Given the description of an element on the screen output the (x, y) to click on. 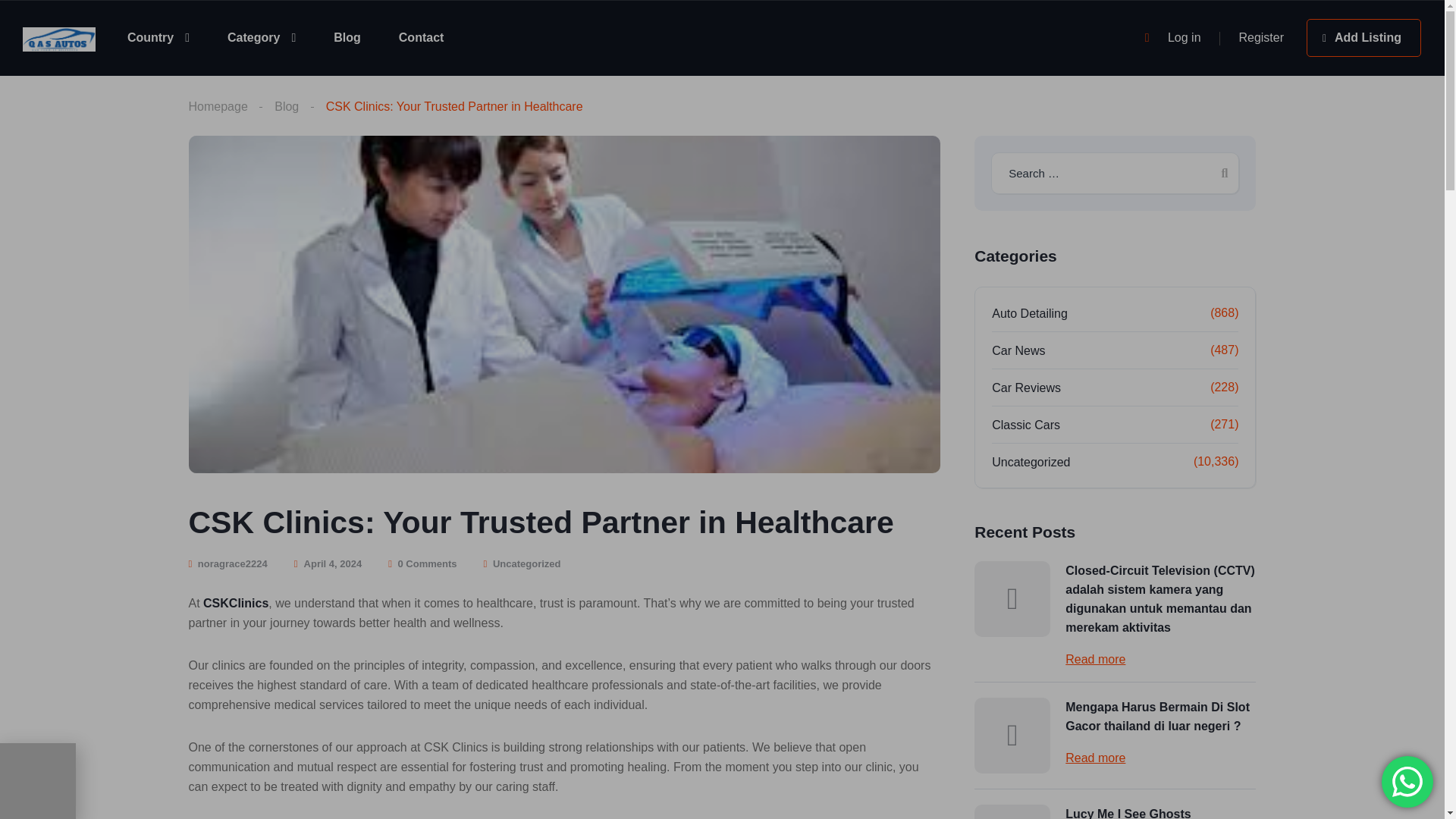
Register (1261, 37)
Blog (347, 36)
Uncategorized (526, 563)
Country (158, 36)
Contact (421, 36)
Country (158, 36)
Blog (347, 36)
Cars (59, 38)
Contact (421, 36)
Category (261, 36)
Category (261, 36)
Log in (1185, 37)
Add Listing (1363, 37)
CSKClinics (235, 603)
Homepage (217, 106)
